Given the description of an element on the screen output the (x, y) to click on. 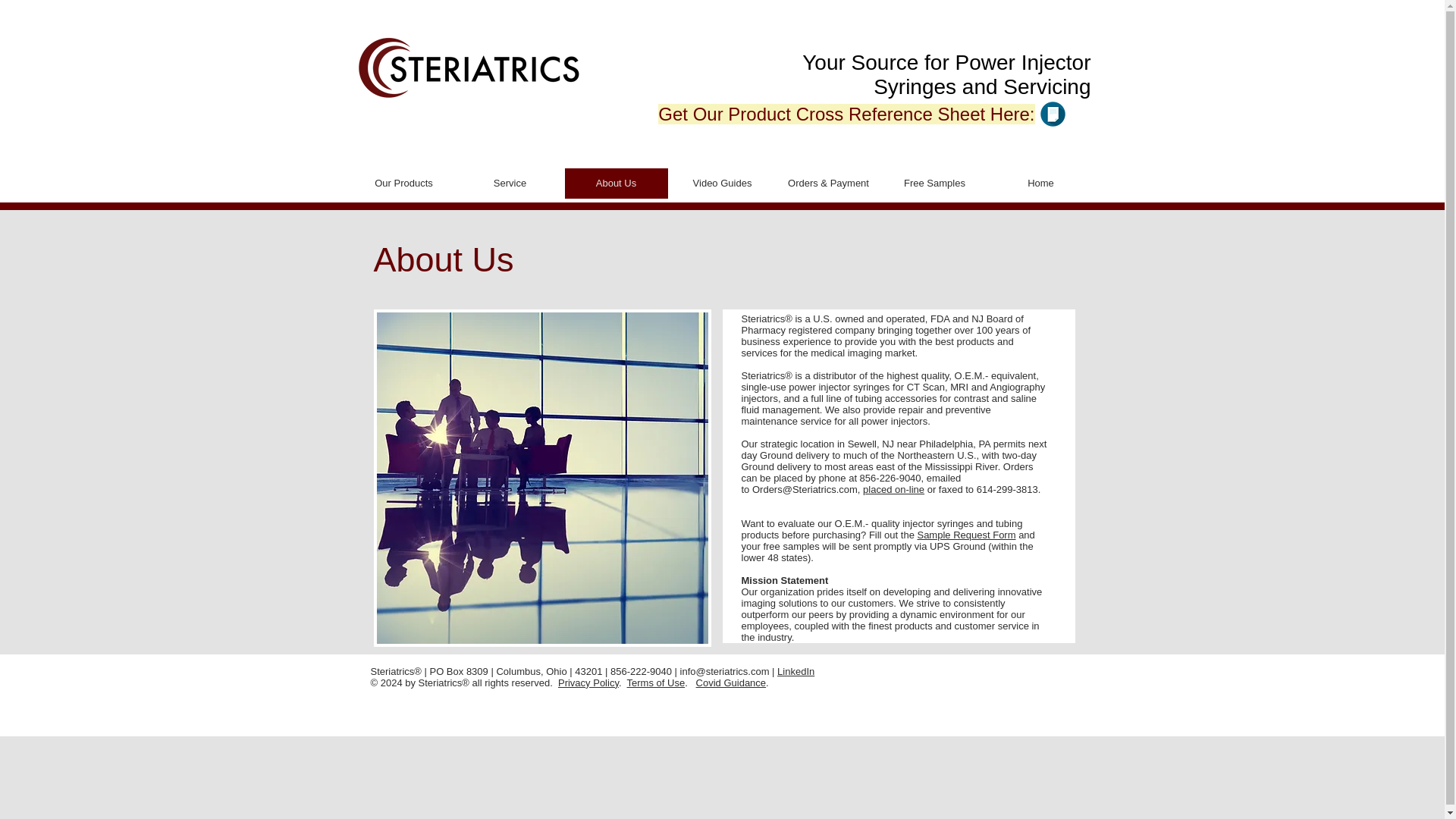
Home (1040, 183)
Service (509, 183)
LinkedIn (795, 671)
Privacy Policy (587, 682)
placed on-line (893, 489)
About Us (615, 183)
Steriatrics Logo.png (469, 67)
Covid Guidance (731, 682)
Sample Request Form (965, 534)
Our Products (403, 183)
Terms of Use (656, 682)
Video Guides (721, 183)
Modern Office (541, 478)
Free Samples (933, 183)
